Given the description of an element on the screen output the (x, y) to click on. 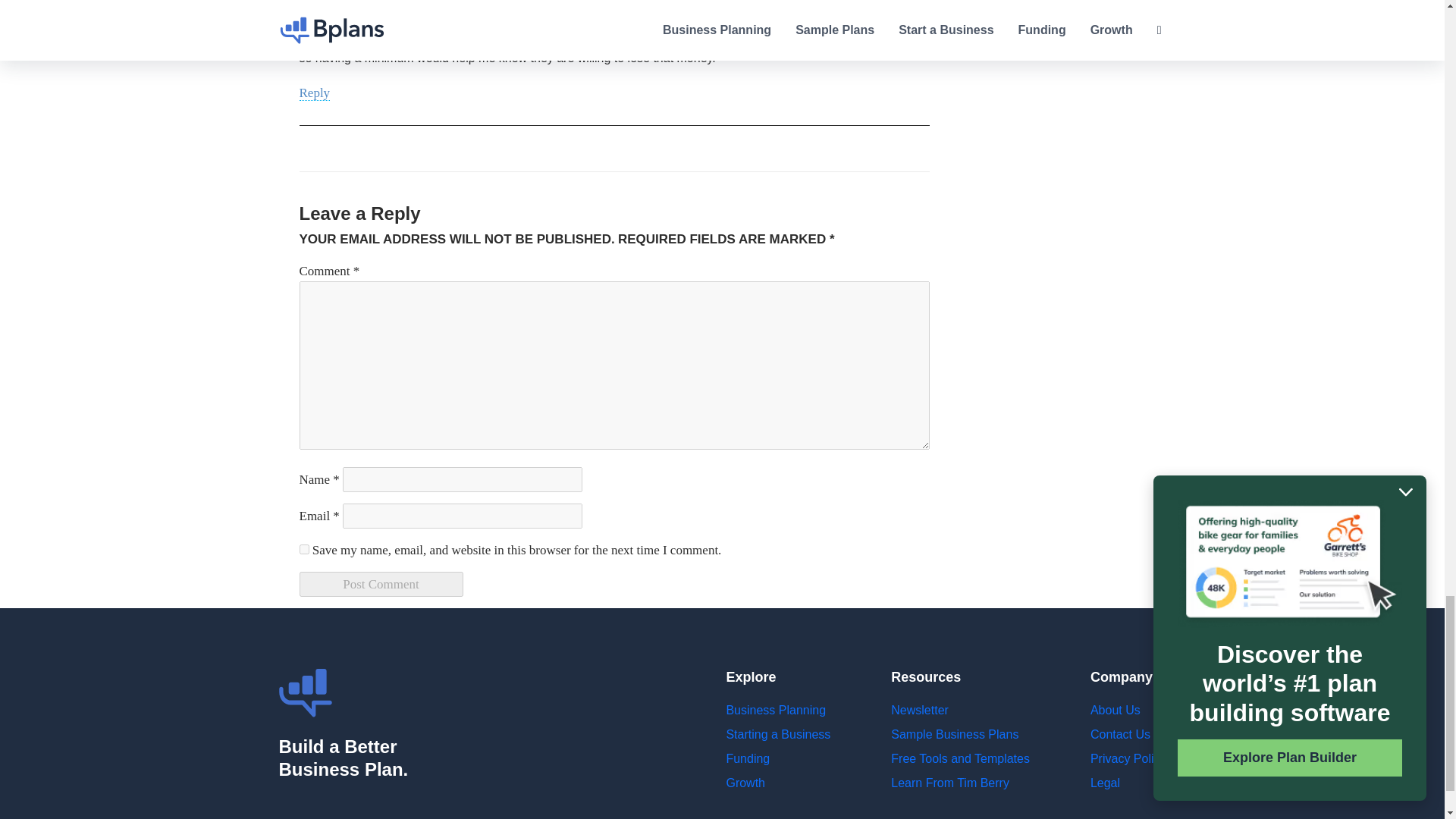
Bplans Logo (305, 693)
Post Comment (380, 584)
yes (303, 549)
